Given the description of an element on the screen output the (x, y) to click on. 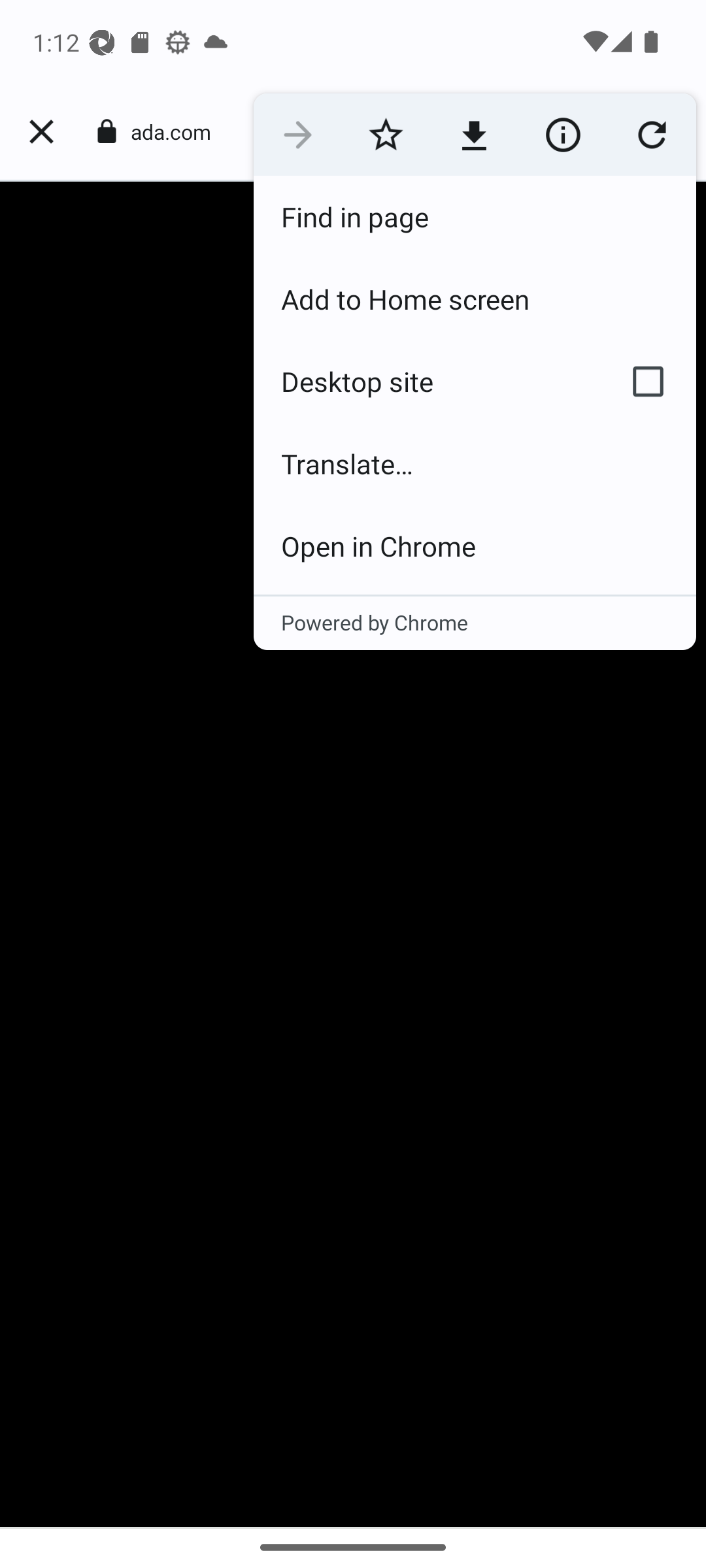
Go forward (297, 134)
Bookmark (385, 134)
Download page (473, 134)
View site information (562, 134)
Refresh (651, 134)
Find in page (474, 216)
Add to Home screen (474, 299)
Desktop site Turn on Request desktop site (426, 381)
Translate… (474, 463)
Open in Chrome (474, 546)
